Given the description of an element on the screen output the (x, y) to click on. 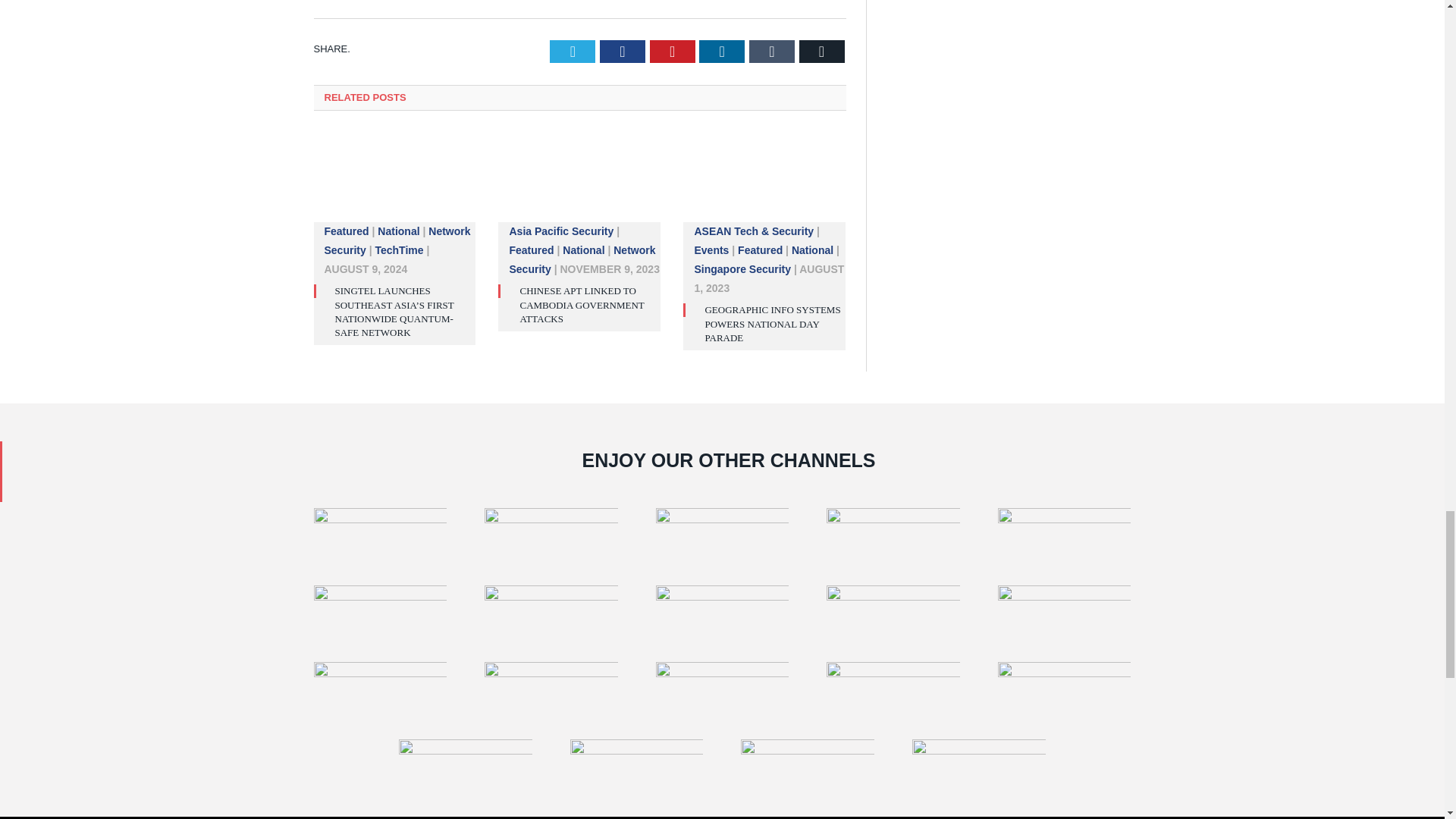
Share on Pinterest (672, 51)
Share via Email (821, 51)
Share on LinkedIn (721, 51)
Share on Facebook (622, 51)
Tweet It (572, 51)
Share on Tumblr (771, 51)
